Given the description of an element on the screen output the (x, y) to click on. 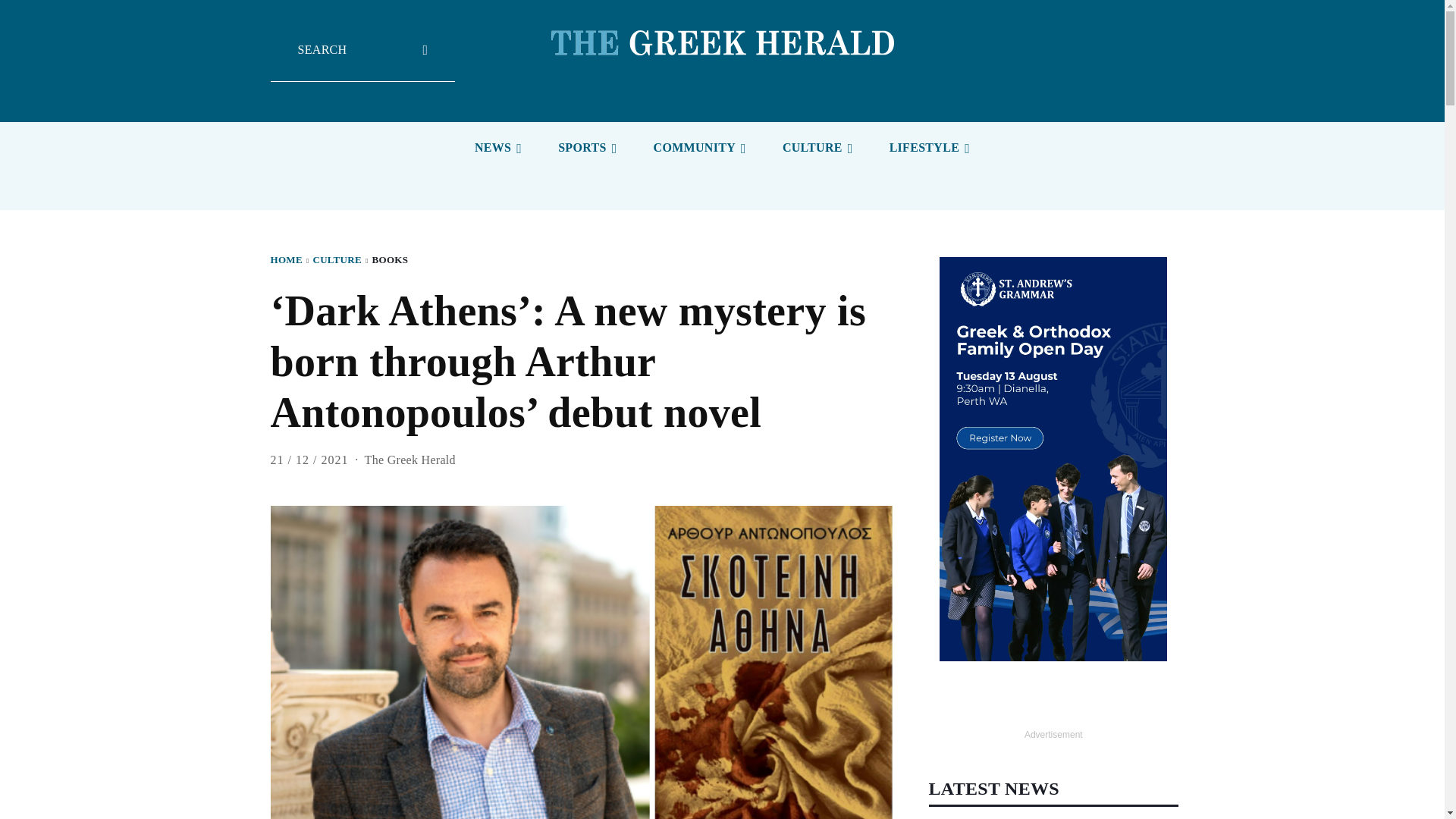
Search (361, 60)
